Given the description of an element on the screen output the (x, y) to click on. 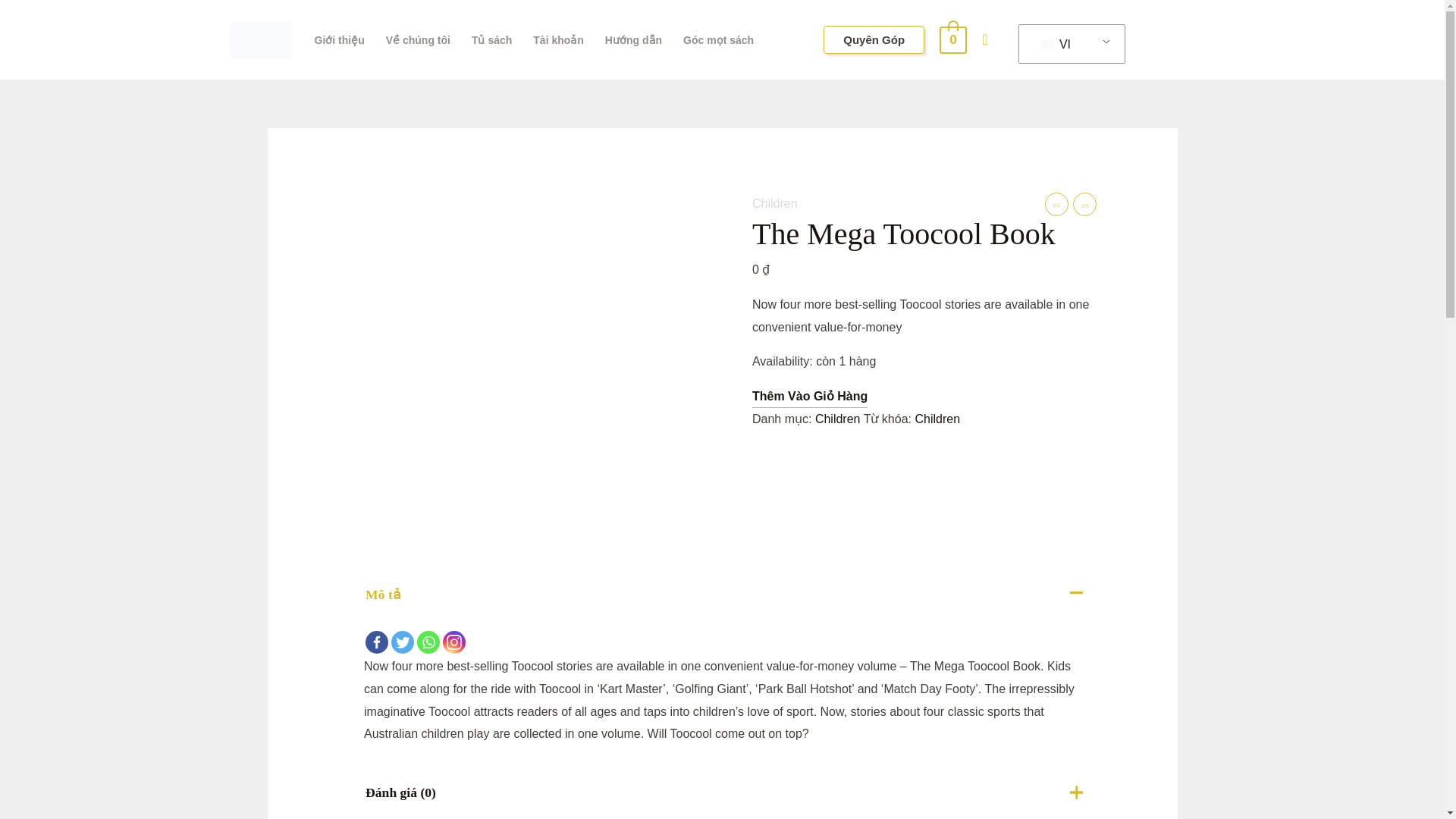
0 (952, 39)
VI (1067, 43)
